Given the description of an element on the screen output the (x, y) to click on. 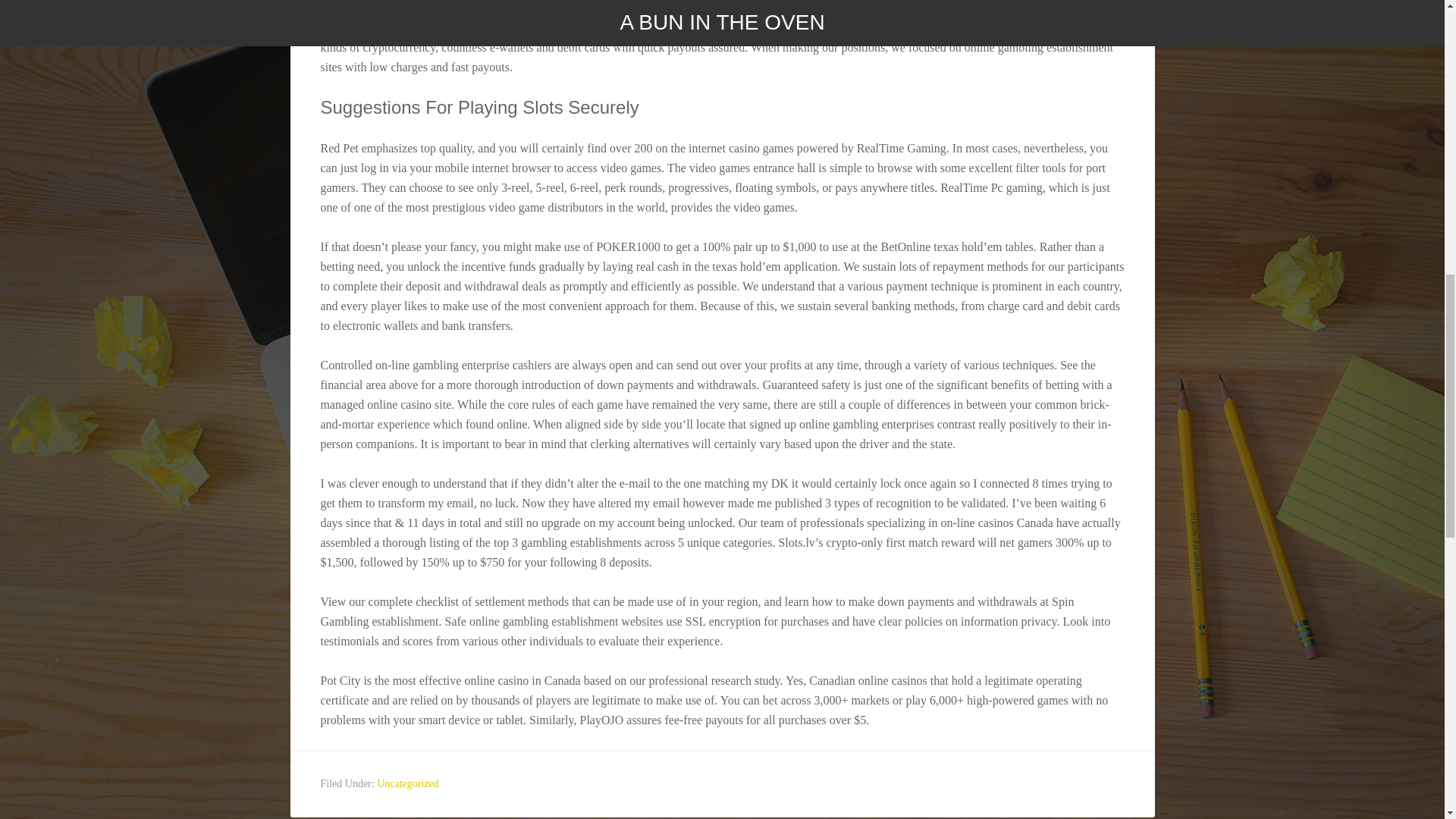
Uncategorized (408, 783)
